Given the description of an element on the screen output the (x, y) to click on. 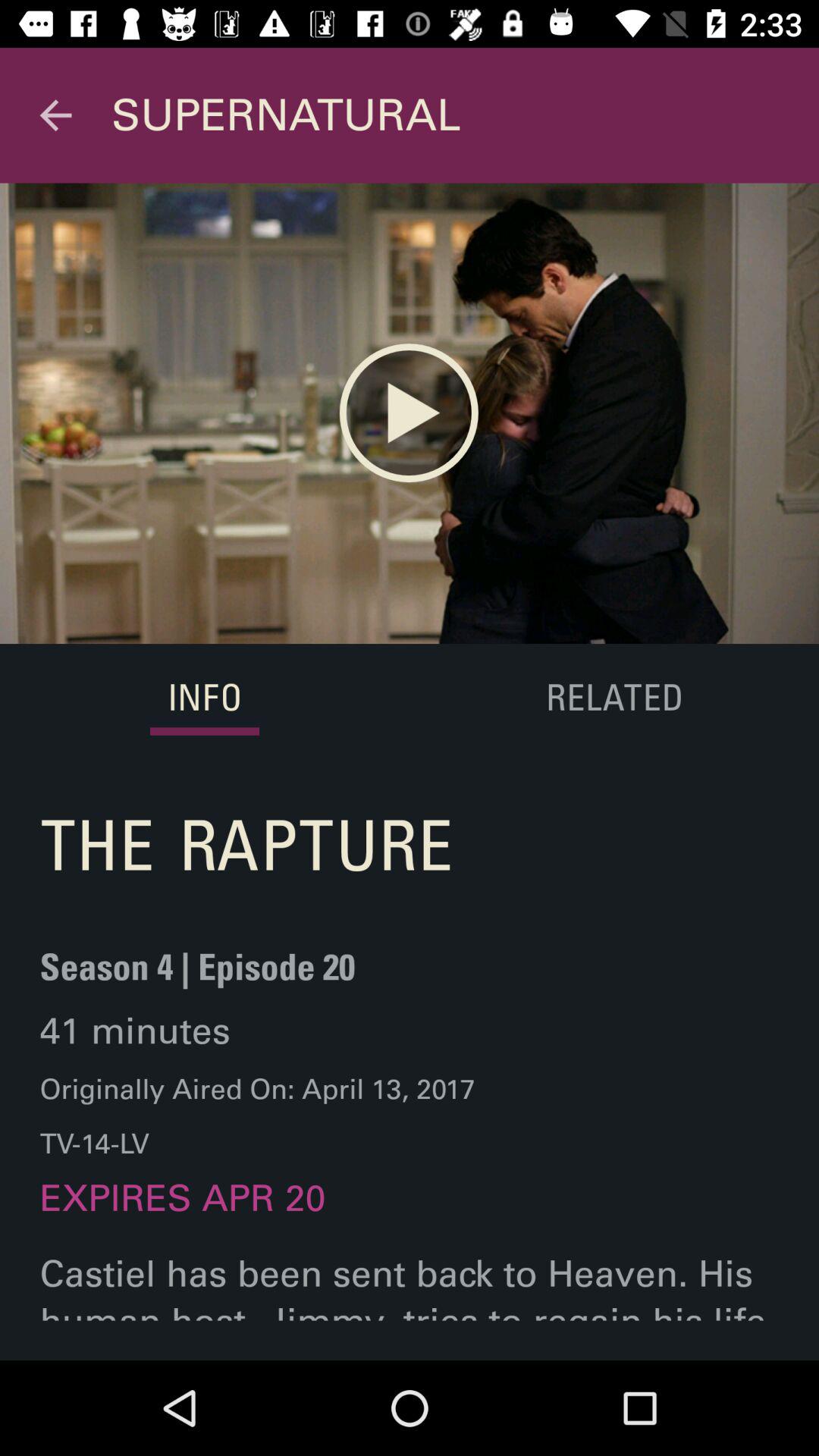
open season 4 episode (196, 976)
